Given the description of an element on the screen output the (x, y) to click on. 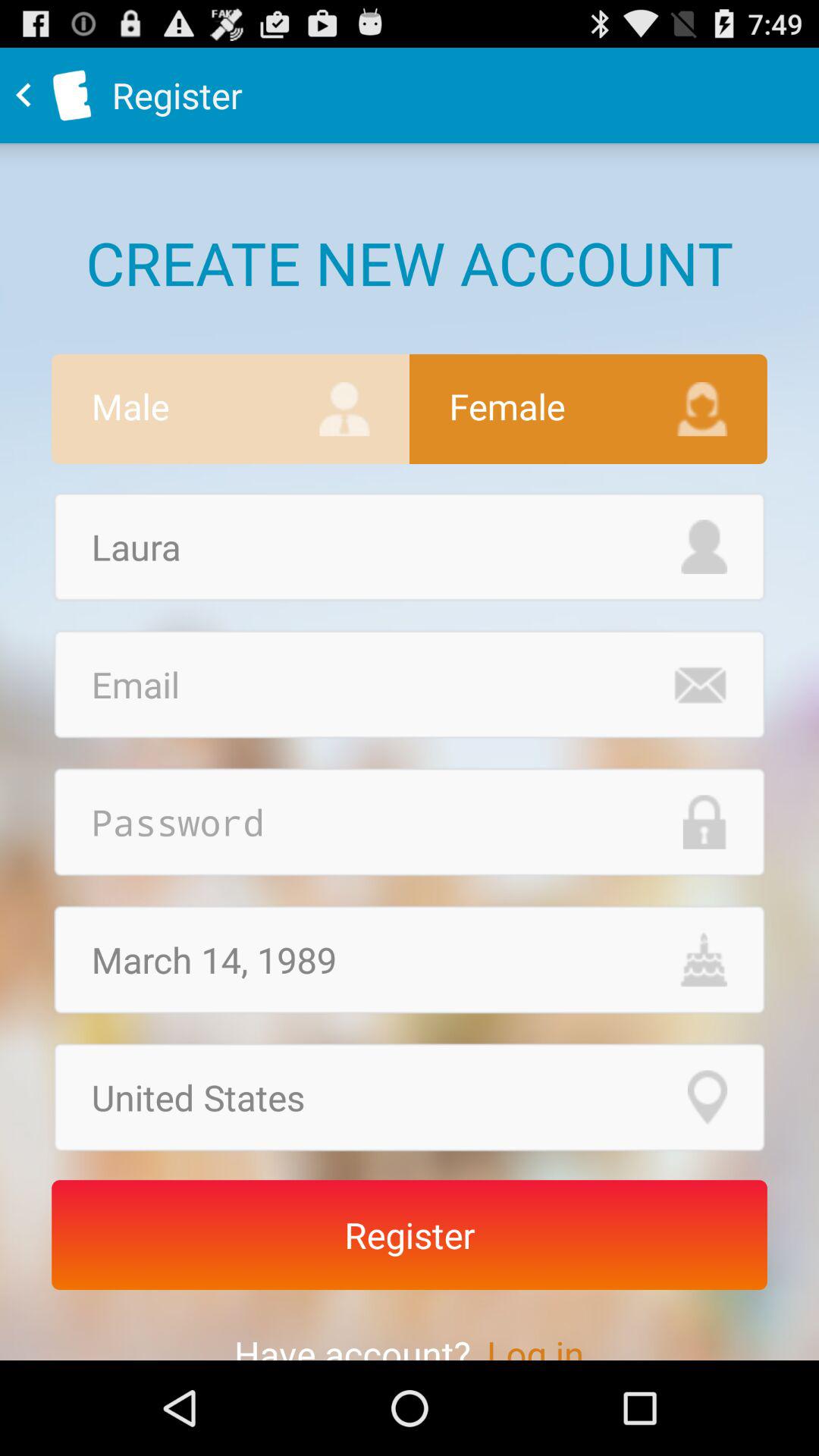
click on male (230, 408)
click on register button (409, 1234)
click on password (409, 822)
select the text box which says email (409, 683)
click on name box laura which is above email field box (409, 547)
select the location field which is above the register button (409, 1097)
click on the text have account log in which is below register (409, 1324)
